Given the description of an element on the screen output the (x, y) to click on. 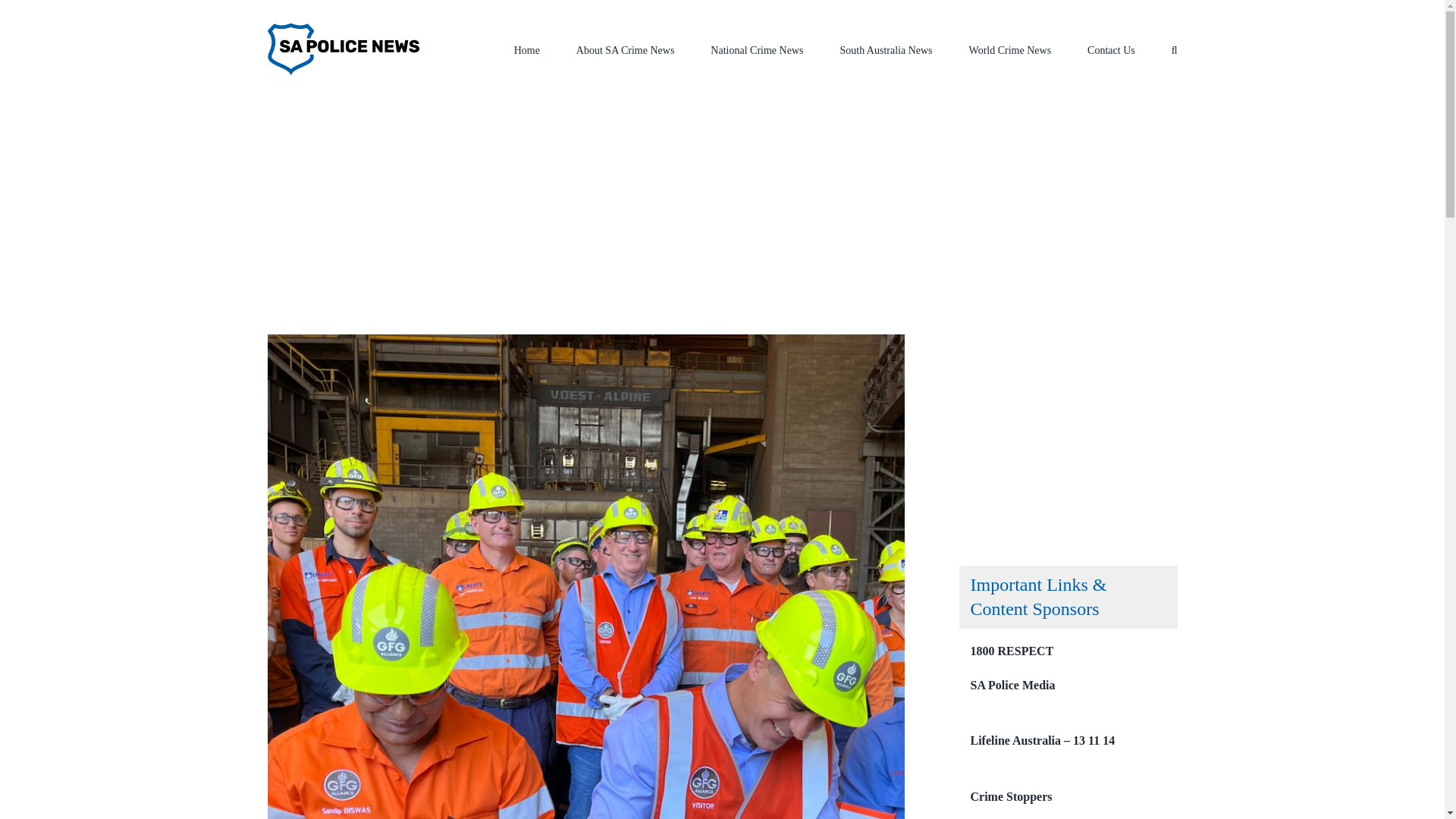
Home (478, 240)
Contact Us (1111, 49)
About SA Crime News (625, 49)
Home (526, 49)
South Australia News (885, 49)
South Australian News (550, 240)
World Crime News (1010, 49)
National Crime News (756, 49)
